Given the description of an element on the screen output the (x, y) to click on. 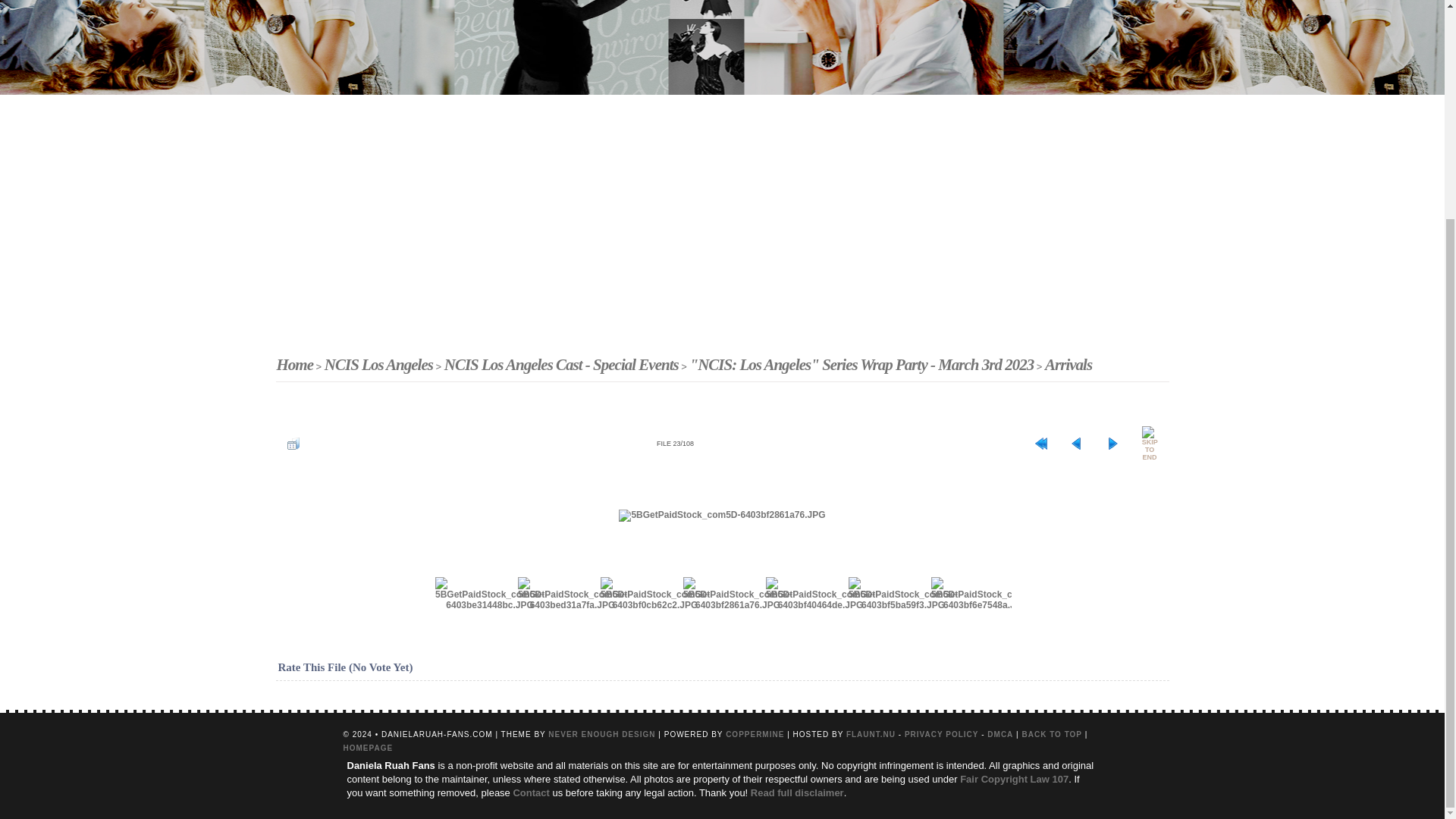
Return to the thumbnail page (292, 443)
NEVER ENOUGH DESIGN (601, 734)
See previous file (1076, 443)
FLAUNT.NU (870, 734)
Return to start (1040, 443)
See next file (1112, 443)
NCIS Los Angeles (378, 364)
NCIS Los Angeles Cast - Special Events (561, 364)
Arrivals (1068, 364)
Home (294, 364)
"NCIS: Los Angeles" Series Wrap Party - March 3rd 2023 (861, 364)
COPPERMINE (754, 734)
